Given the description of an element on the screen output the (x, y) to click on. 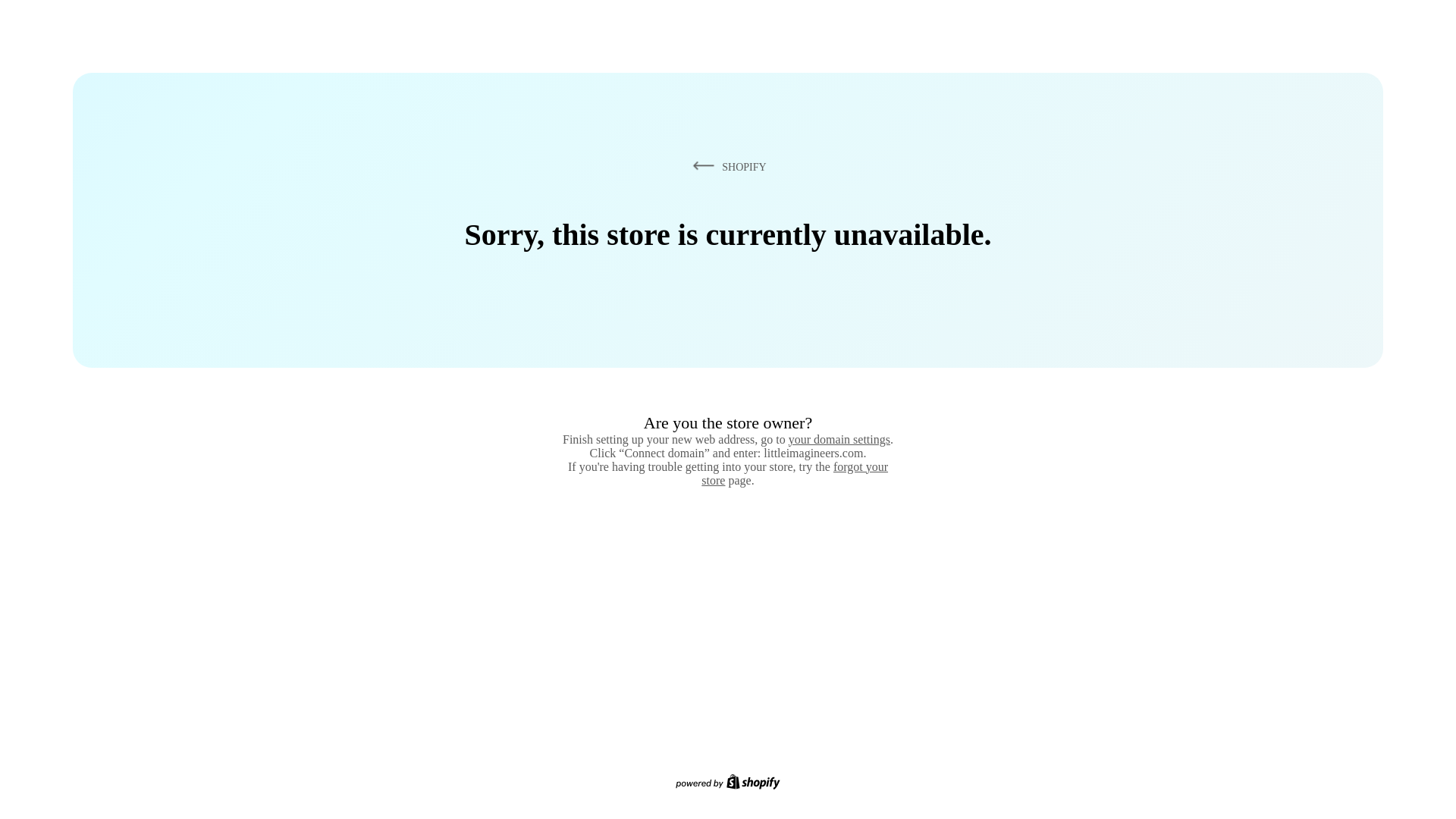
forgot your store (794, 473)
SHOPIFY (726, 166)
your domain settings (839, 439)
